Given the description of an element on the screen output the (x, y) to click on. 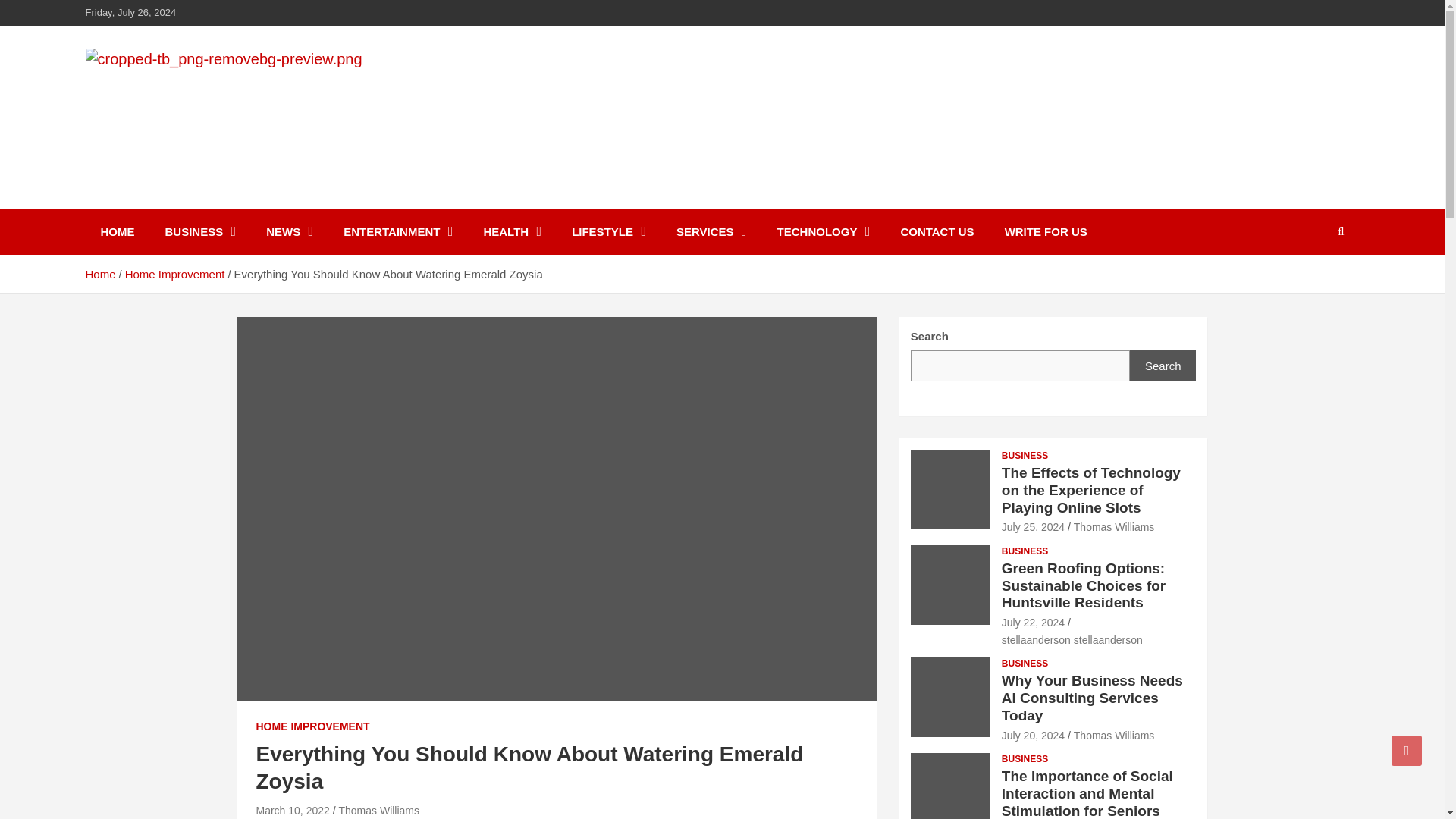
The Blogism (175, 205)
CONTACT US (936, 231)
NEWS (289, 231)
TECHNOLOGY (823, 231)
Why Your Business Needs AI Consulting Services Today (1032, 735)
Go to Top (1406, 750)
BUSINESS (200, 231)
LIFESTYLE (608, 231)
HEALTH (511, 231)
ENTERTAINMENT (398, 231)
SERVICES (711, 231)
HOME (116, 231)
